Given the description of an element on the screen output the (x, y) to click on. 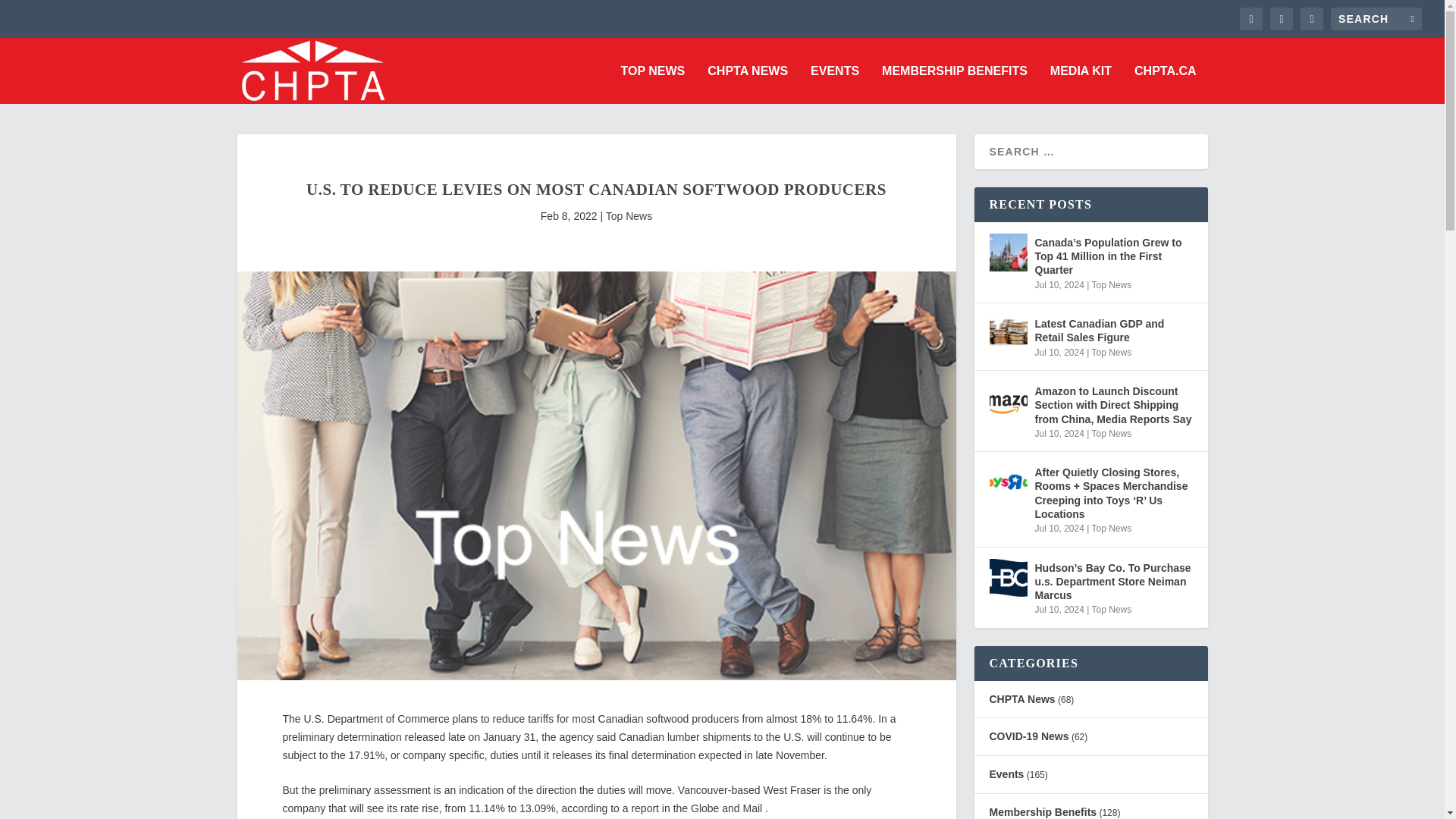
Search for: (1376, 18)
MEMBERSHIP BENEFITS (954, 84)
MEDIA KIT (1080, 84)
Latest Canadian GDP and Retail Sales Figure (1112, 330)
CHPTA NEWS (747, 84)
Top News (628, 215)
Search (31, 13)
CHPTA.CA (1164, 84)
EVENTS (834, 84)
Top News (1110, 285)
TOP NEWS (653, 84)
